Given the description of an element on the screen output the (x, y) to click on. 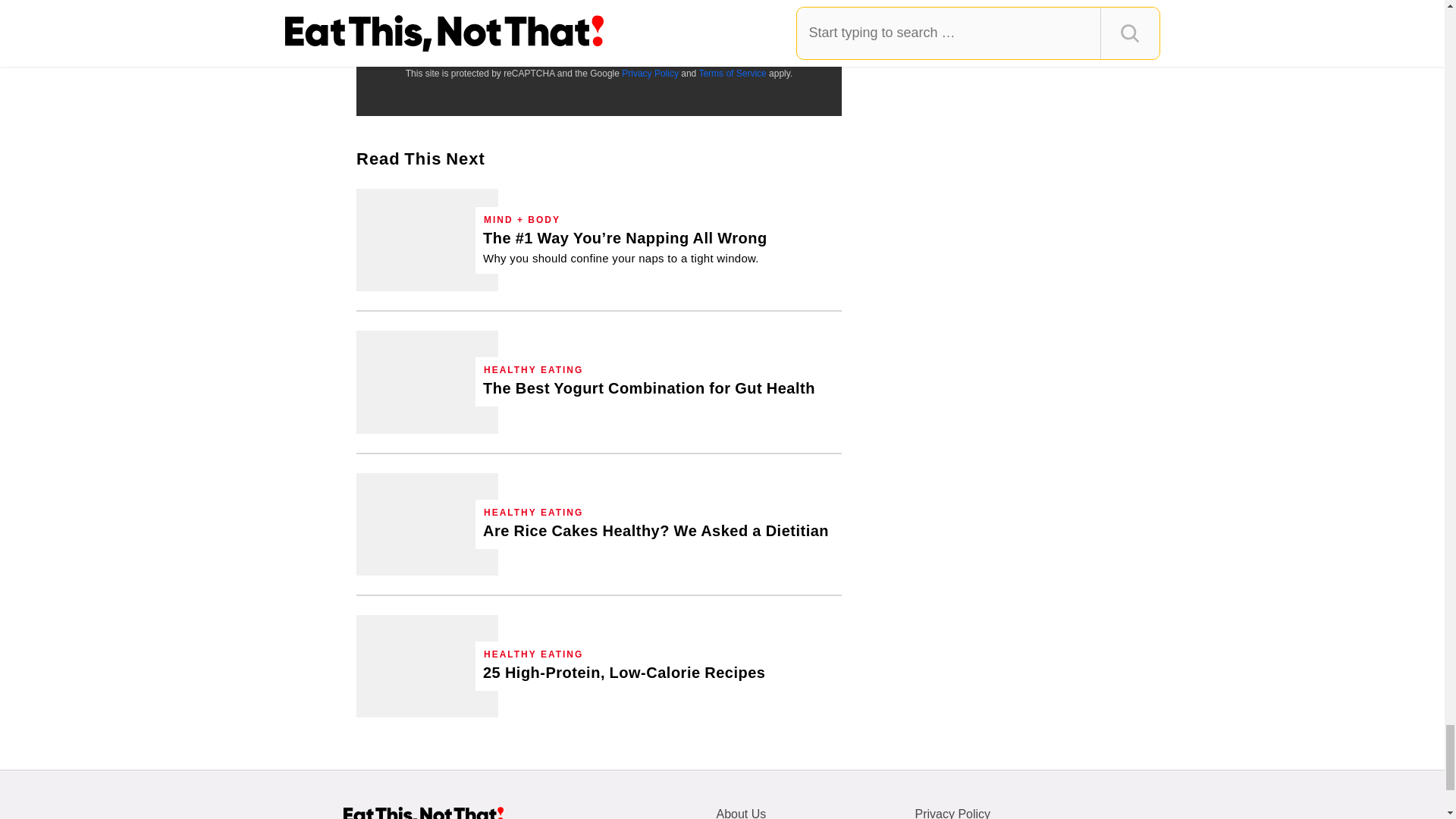
25 High-Protein Recipes That Are Also Low in Calories (426, 666)
Are Rice Cakes Healthy? We Asked a Dietitian (655, 530)
25 High-Protein Recipes That Are Also Low in Calories (624, 672)
Are Rice Cakes Healthy? We Asked a Dietitian (426, 524)
